Given the description of an element on the screen output the (x, y) to click on. 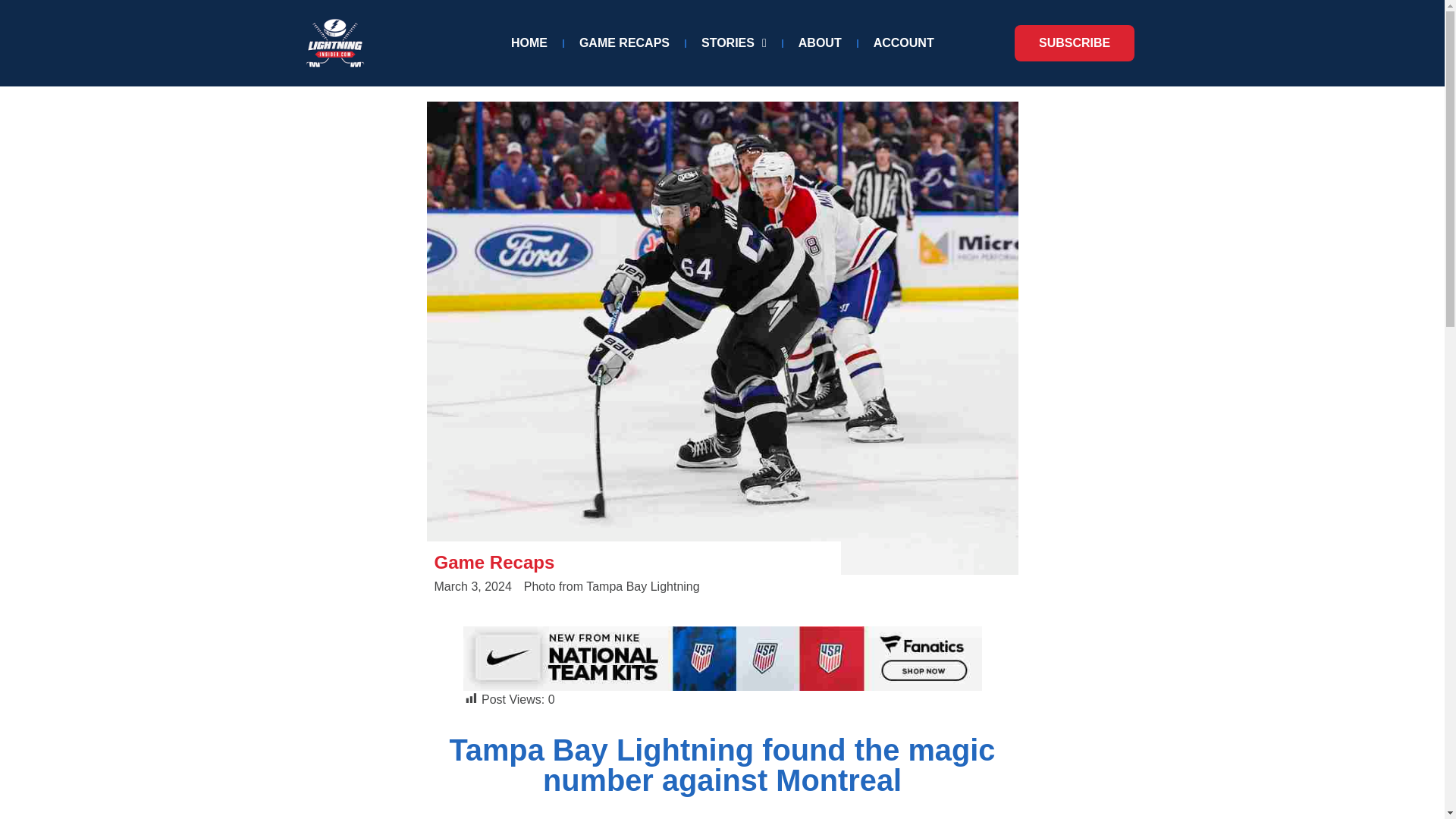
ABOUT (820, 42)
HOME (529, 42)
STORIES (733, 42)
GAME RECAPS (624, 42)
SUBSCRIBE (1074, 43)
ACCOUNT (904, 42)
Game Recaps (493, 562)
